Given the description of an element on the screen output the (x, y) to click on. 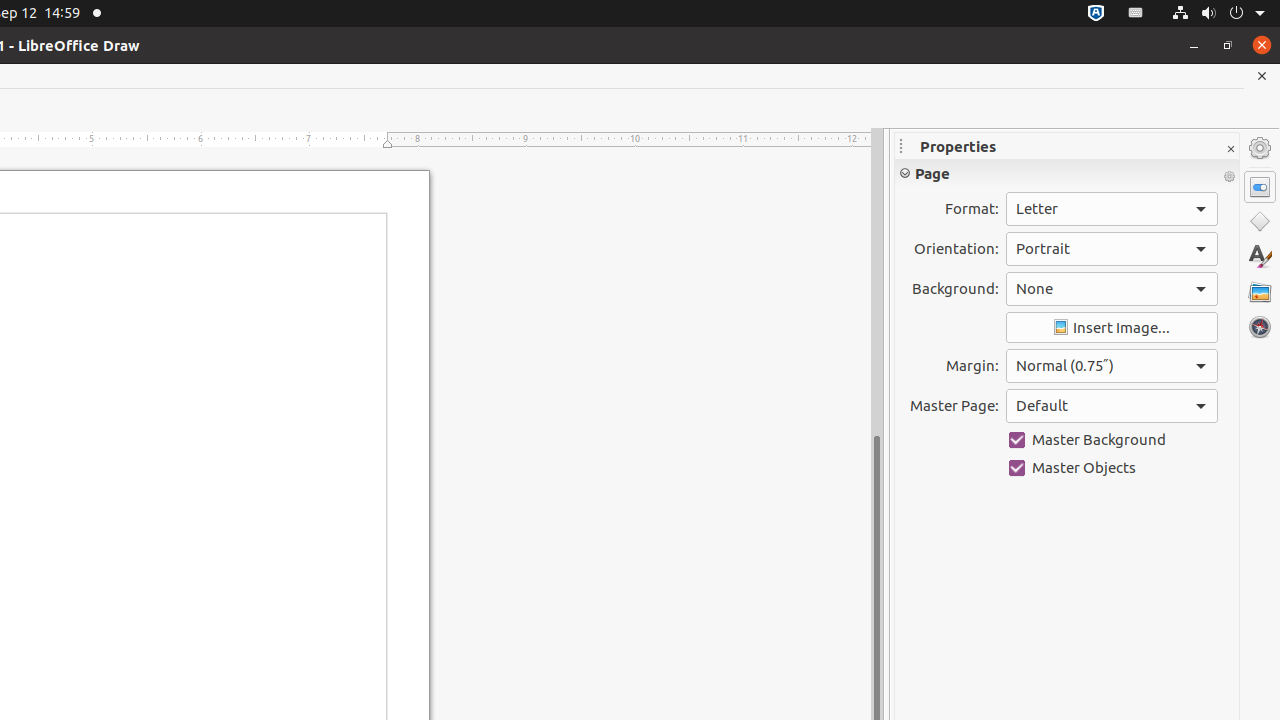
Properties Element type: radio-button (1260, 187)
Background: Element type: combo-box (1112, 289)
Gallery Element type: radio-button (1260, 292)
System Element type: menu (1218, 13)
:1.21/StatusNotifierItem Element type: menu (1136, 13)
